Given the description of an element on the screen output the (x, y) to click on. 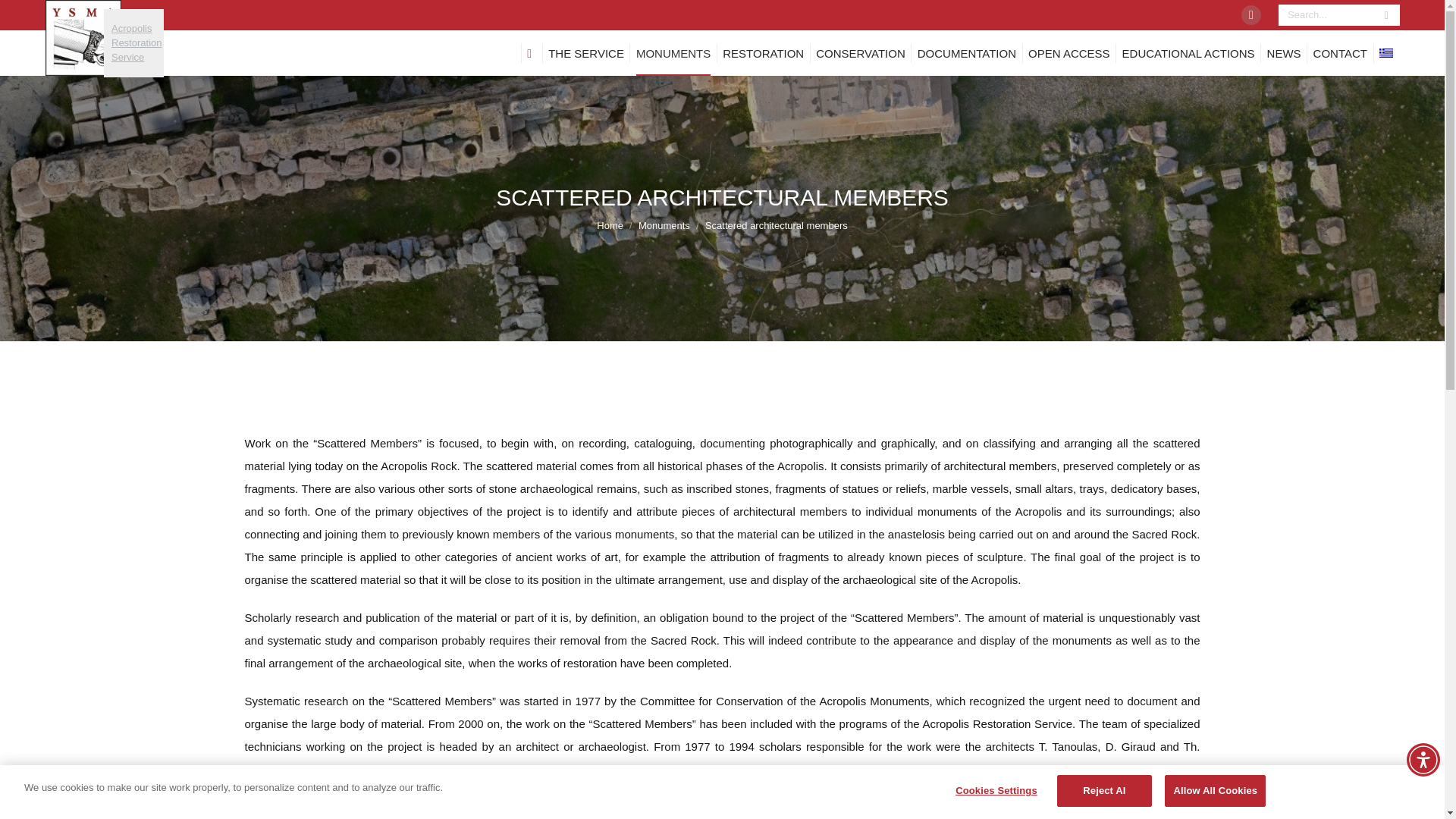
YouTube page opens in new window (1250, 14)
SUBMIT (732, 665)
1 (703, 624)
Home (609, 225)
Accessibility Menu (1422, 759)
Go! (136, 42)
Monuments (18, 16)
MONUMENTS (664, 225)
YouTube page opens in new window (672, 52)
Search form (1250, 14)
THE SERVICE (1338, 14)
